Given the description of an element on the screen output the (x, y) to click on. 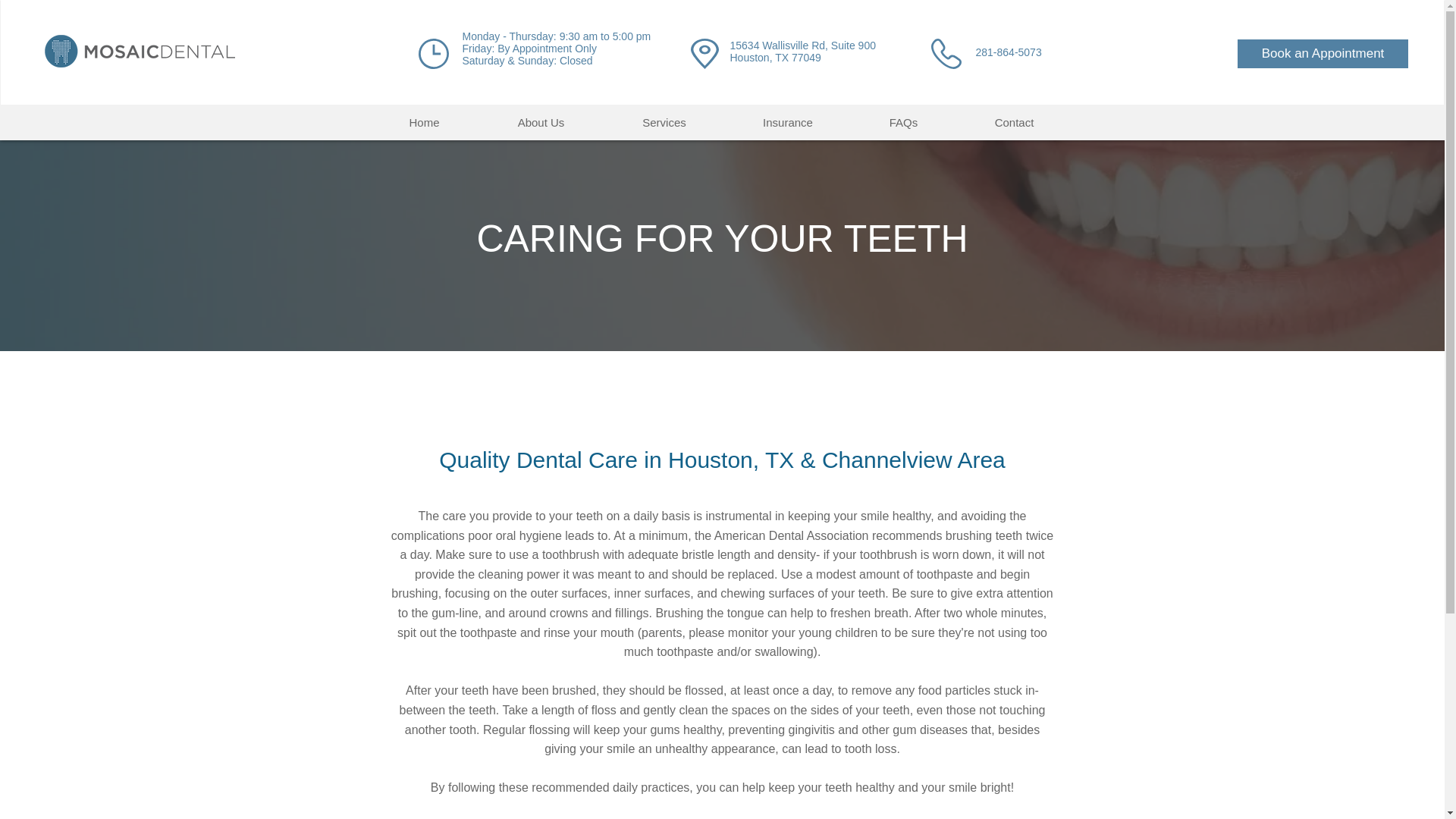
FAQs (902, 122)
About Us (540, 122)
Contact (1013, 122)
Home (423, 122)
Services (663, 122)
Book an Appointment (1322, 53)
281-864-5073 (1008, 51)
Insurance (788, 122)
